Given the description of an element on the screen output the (x, y) to click on. 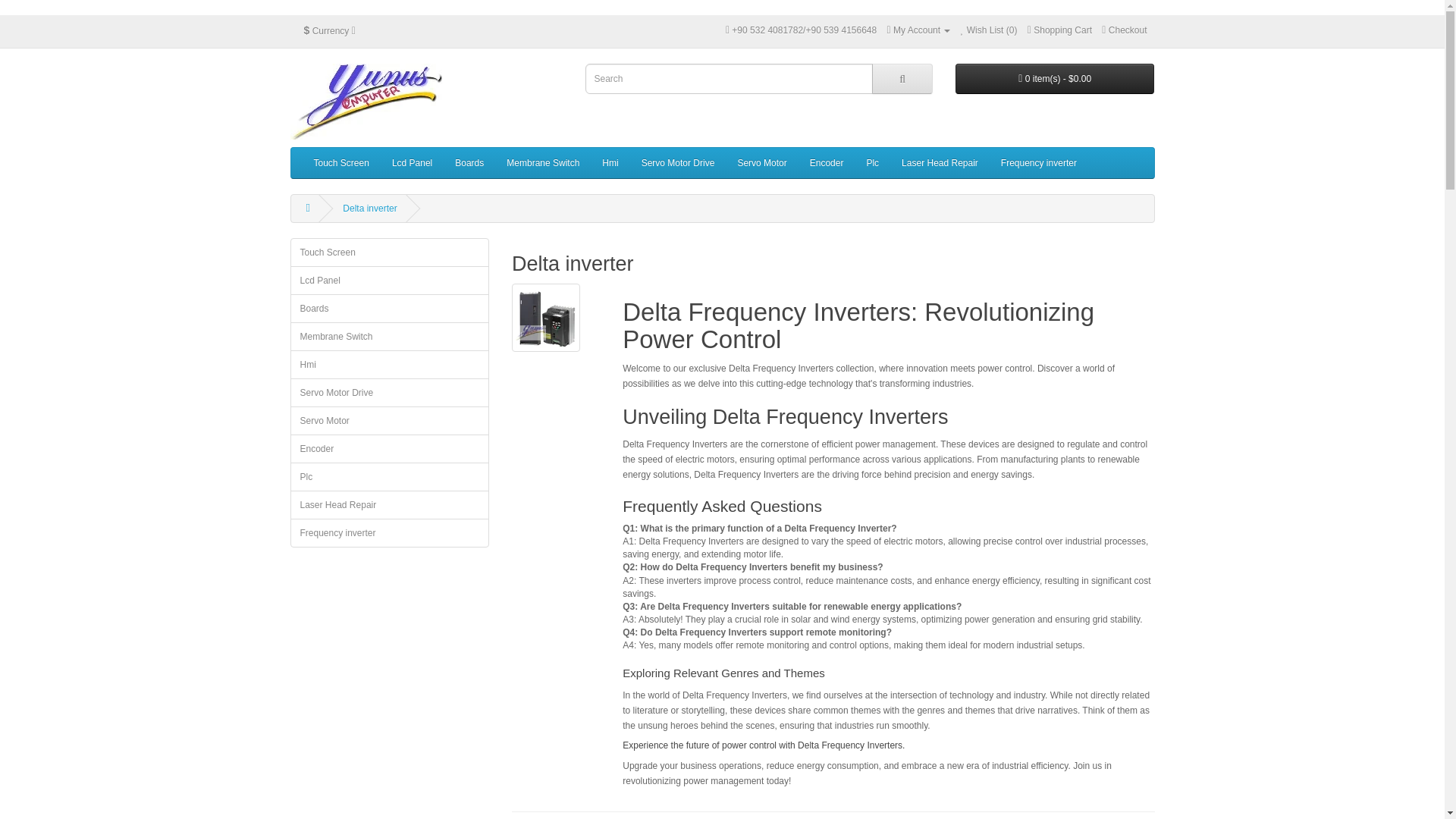
My Account (918, 30)
Delta inverter (545, 317)
Boards (469, 163)
Lcd Panel (412, 163)
Shopping Cart (1059, 30)
Checkout (1124, 30)
Touch Screen (340, 163)
Shopping Cart (1059, 30)
Yunus Computer international Konya Turkey Hong Kong China (365, 101)
Checkout (1124, 30)
My Account (918, 30)
